Given the description of an element on the screen output the (x, y) to click on. 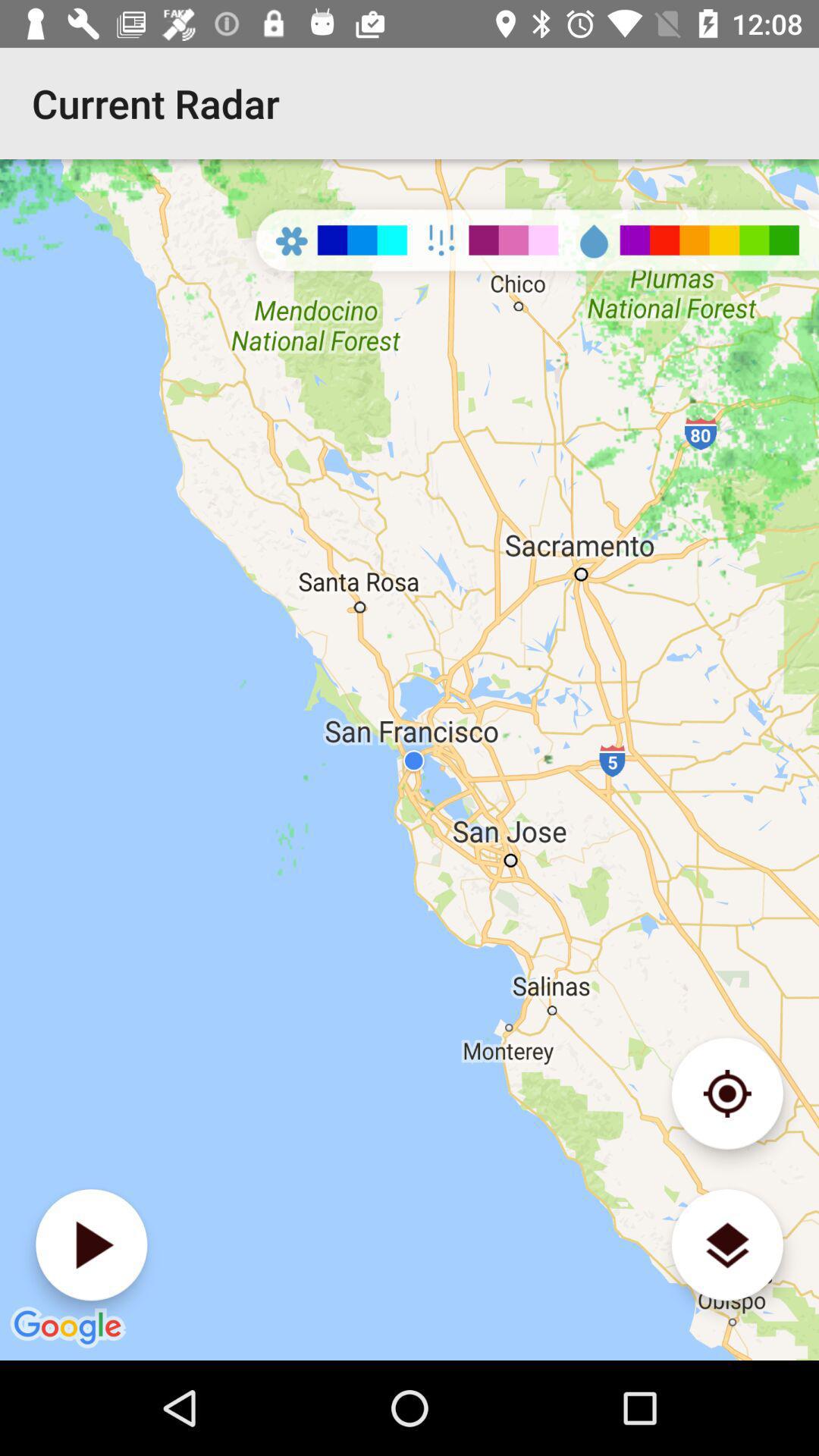
turn off the item below the current radar (91, 1244)
